Given the description of an element on the screen output the (x, y) to click on. 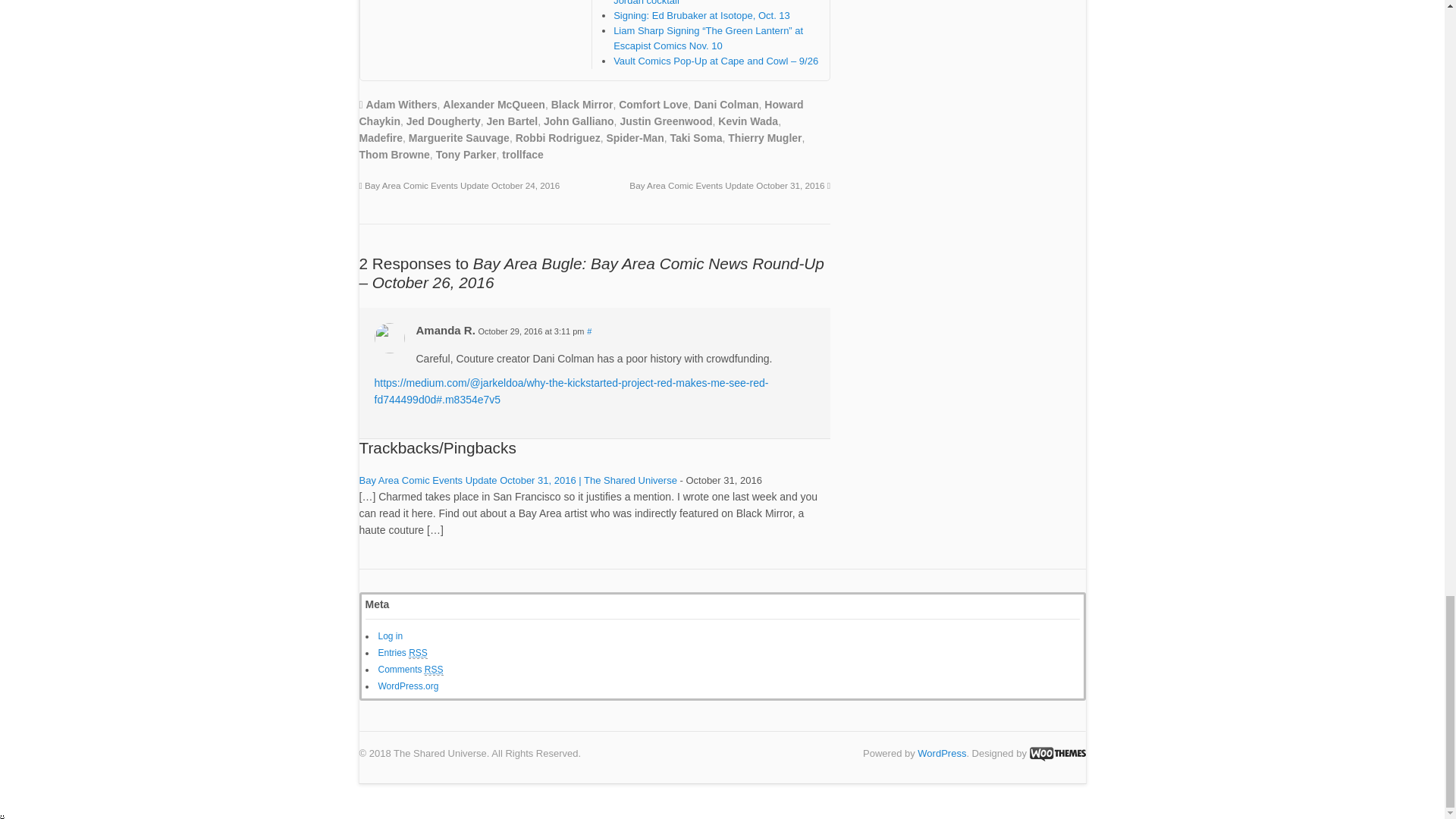
Whitechapel bartender goes global with a Hal Jordan cocktail (712, 2)
Signing: Ed Brubaker at Isotope, Oct. 13 (701, 15)
